Given the description of an element on the screen output the (x, y) to click on. 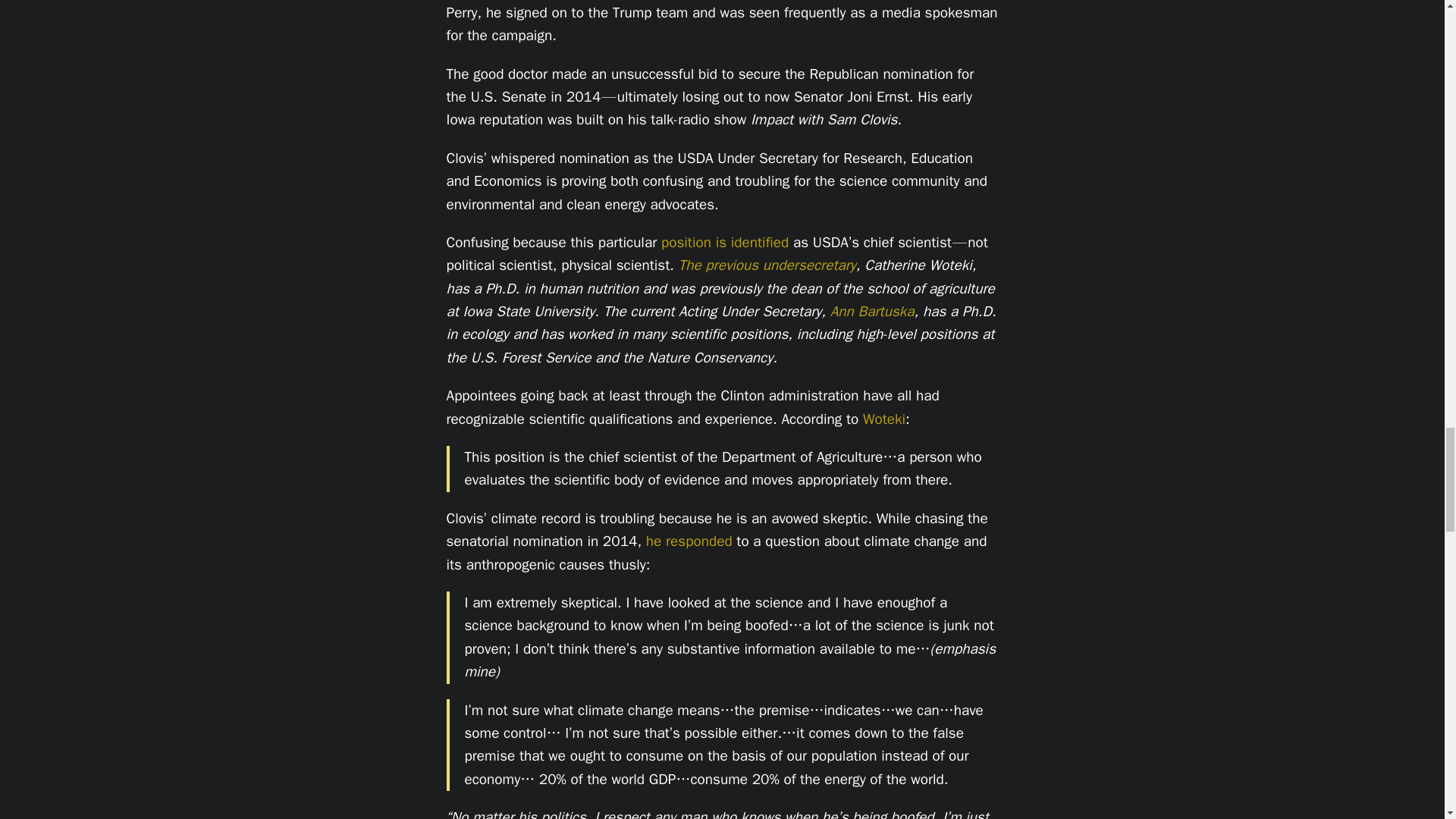
position is identified (725, 242)
Ann Bartuska (871, 311)
The previous undersecretary (767, 265)
Woteki (884, 419)
